Given the description of an element on the screen output the (x, y) to click on. 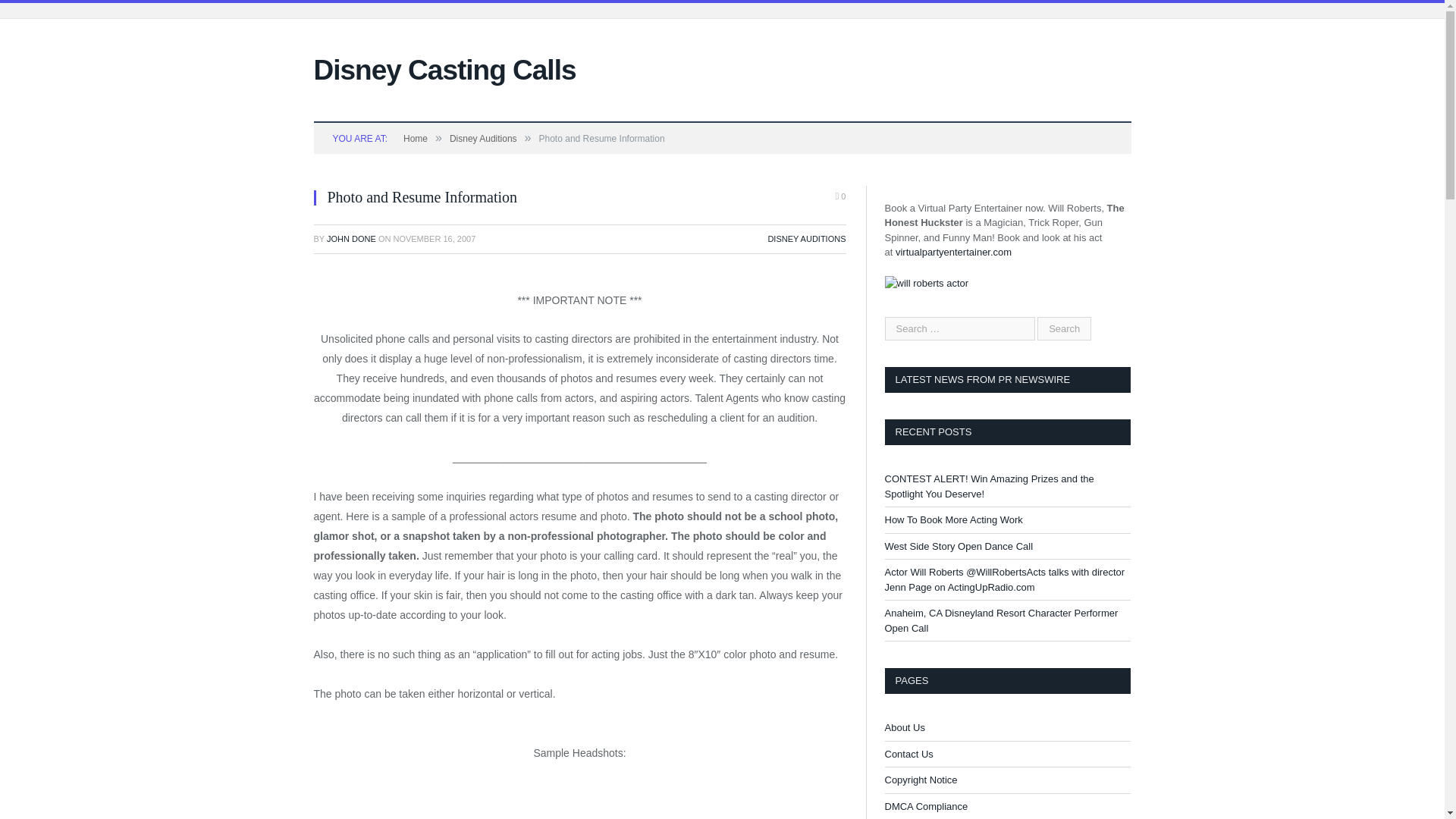
Home (415, 138)
Disney Casting Calls (445, 69)
Copyright Notice (919, 779)
Search (1063, 328)
Search (1063, 328)
virtualpartyentertainer.com (953, 251)
JOHN DONE (350, 238)
DMCA Compliance (925, 806)
Disney Auditions (482, 138)
